Given the description of an element on the screen output the (x, y) to click on. 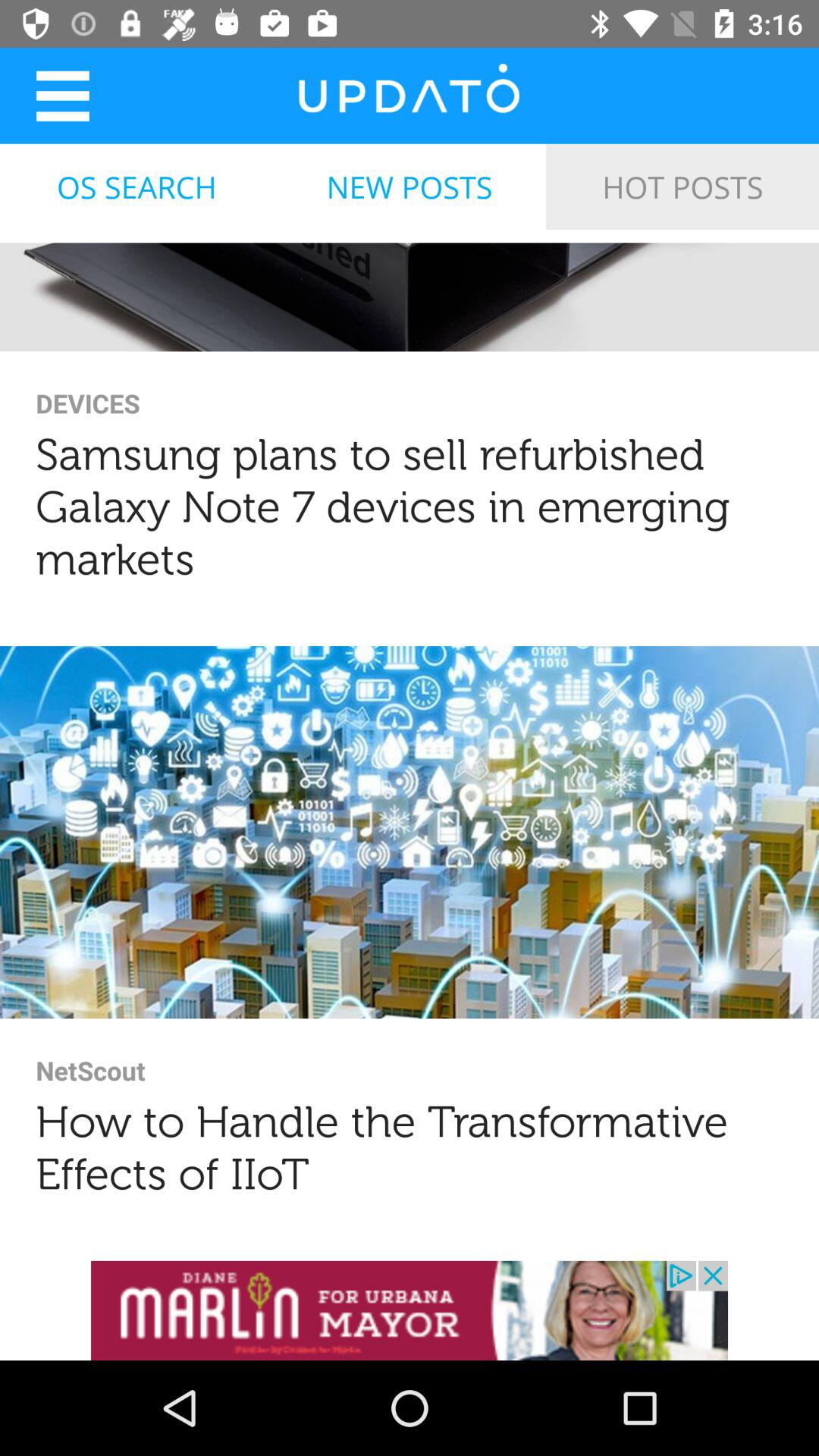
go to homepage (408, 95)
